Given the description of an element on the screen output the (x, y) to click on. 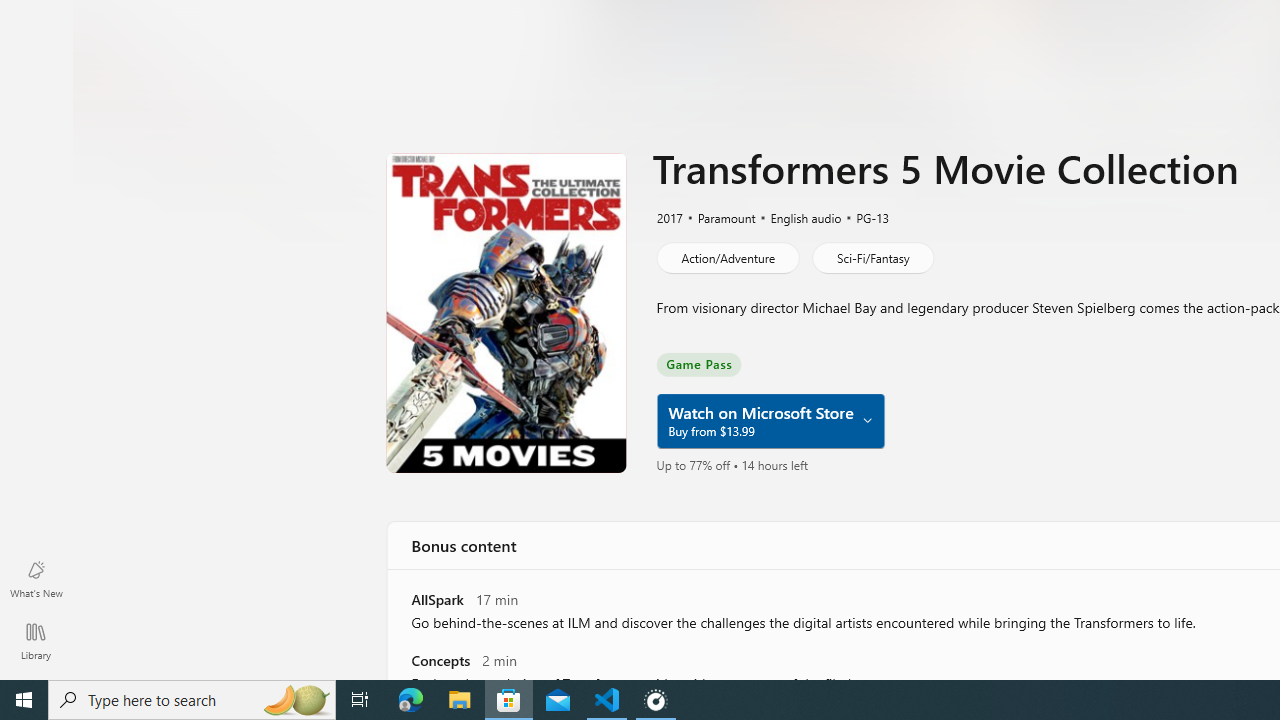
Watch on Microsoft Store Buy from $13.99 (769, 421)
2017 (667, 217)
Action/Adventure (726, 257)
Library (35, 640)
PG-13 (863, 217)
What's New (35, 578)
English audio (797, 217)
Paramount (717, 217)
Sci-Fi/Fantasy (872, 257)
